Given the description of an element on the screen output the (x, y) to click on. 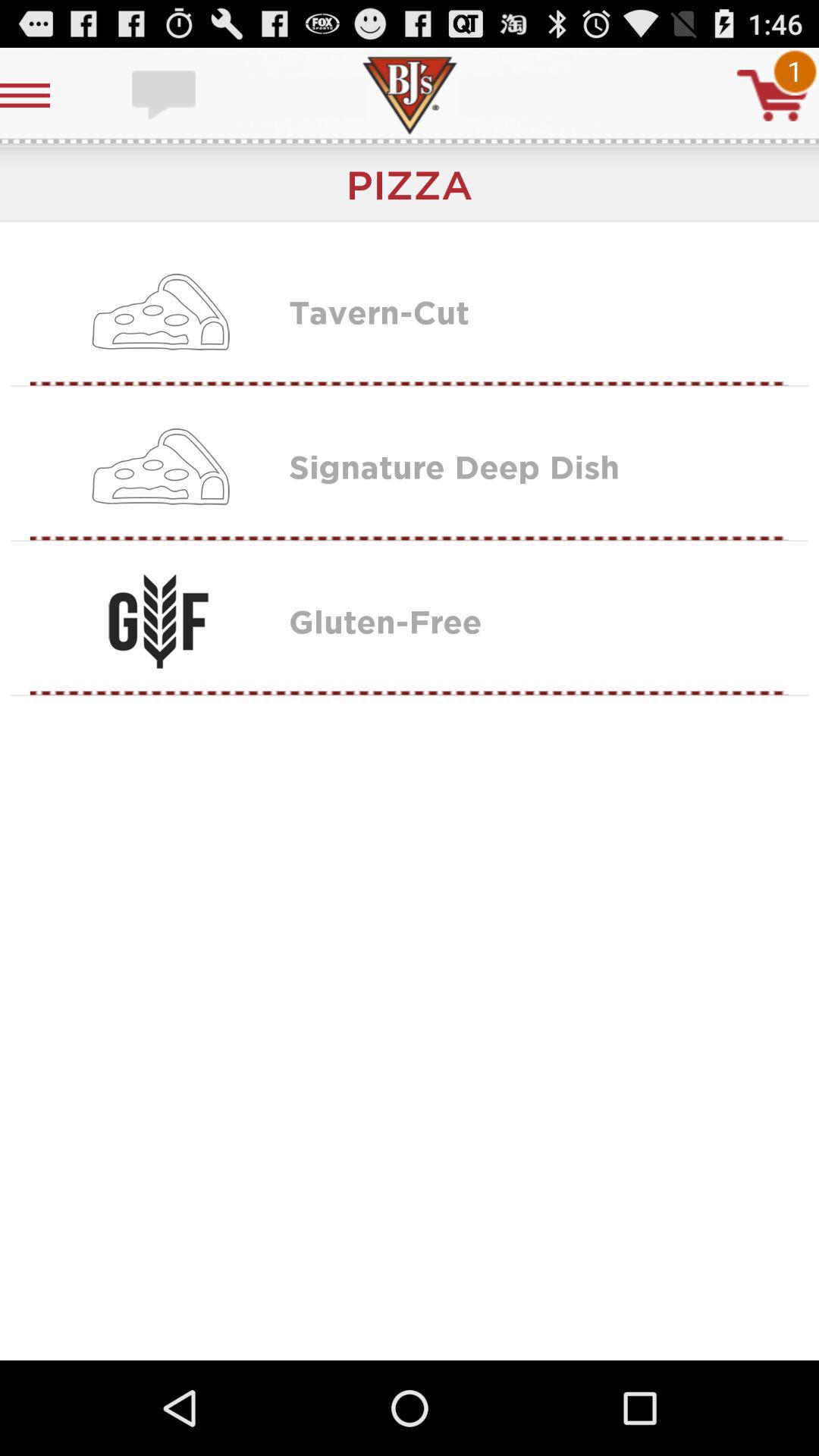
view cart (772, 95)
